Given the description of an element on the screen output the (x, y) to click on. 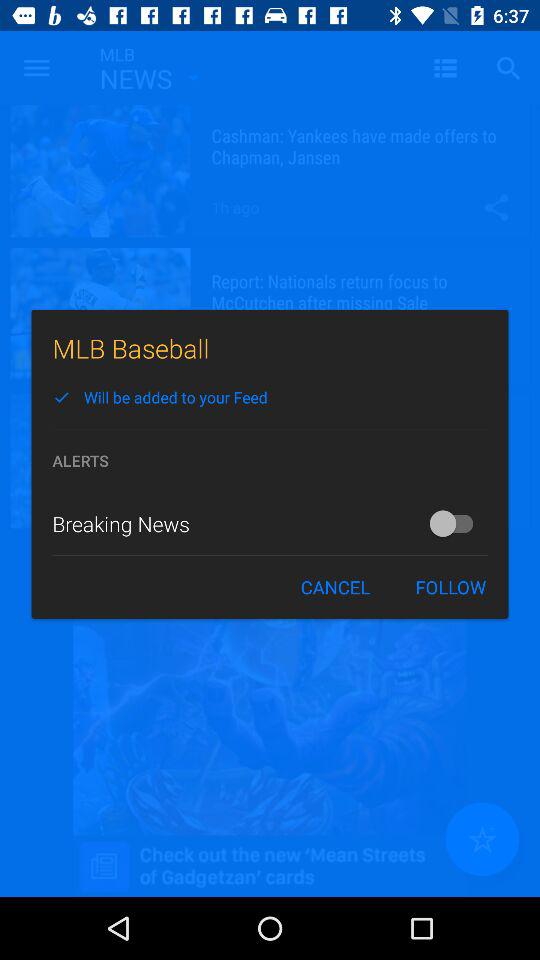
toggle breaking news alert (456, 523)
